Given the description of an element on the screen output the (x, y) to click on. 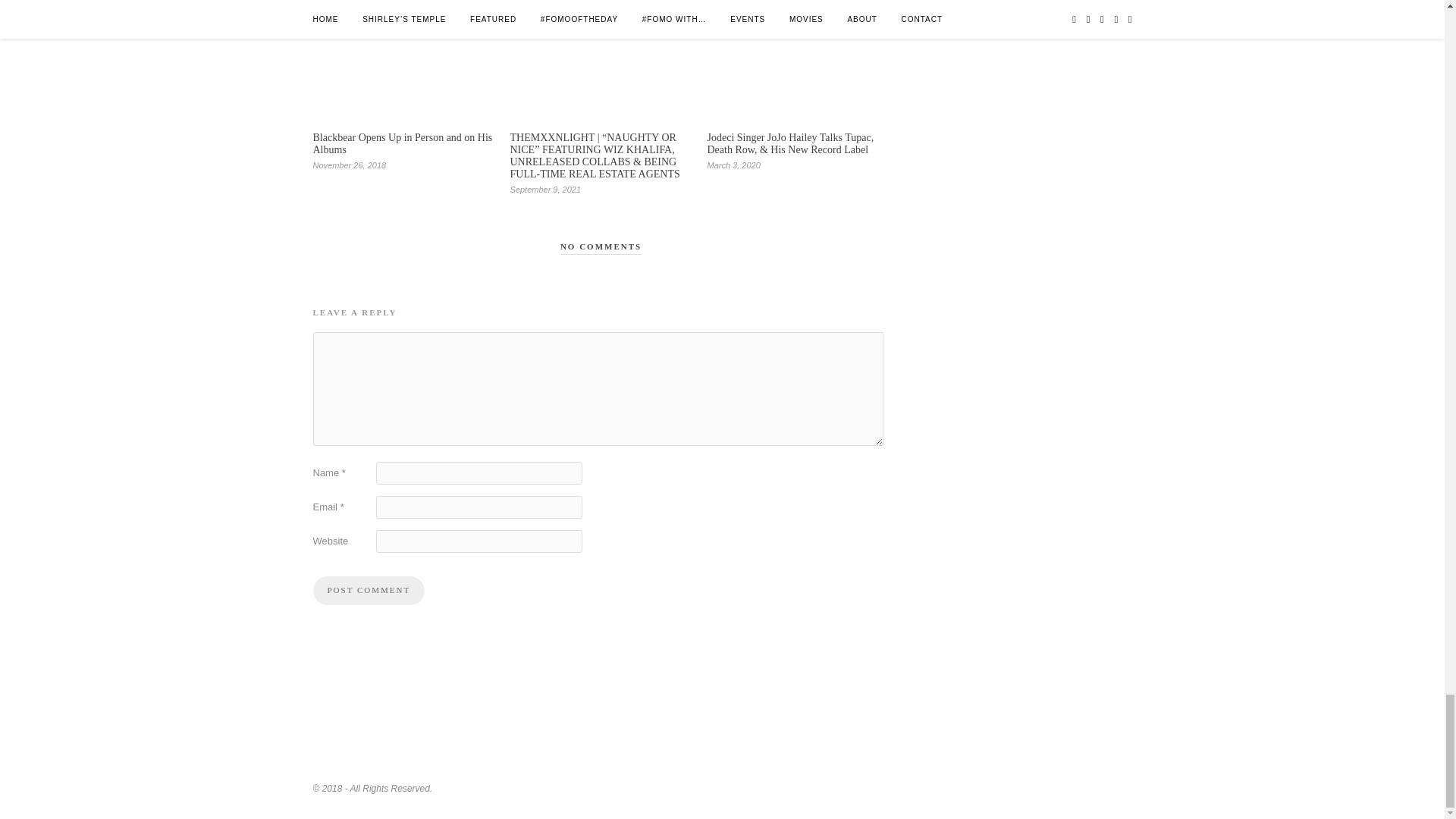
Post Comment (369, 590)
